Given the description of an element on the screen output the (x, y) to click on. 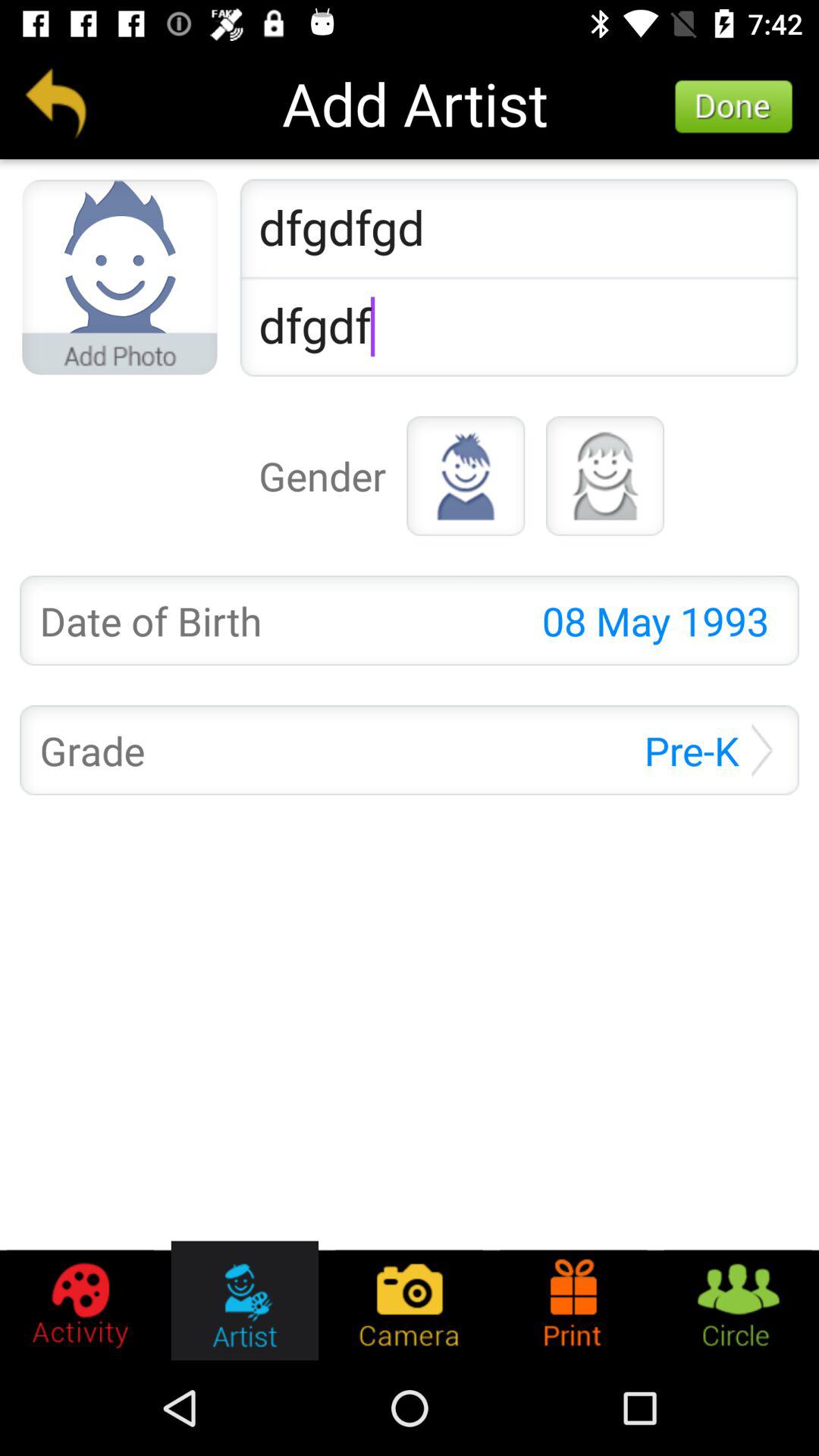
select item to the left of the add artist item (55, 103)
